Given the description of an element on the screen output the (x, y) to click on. 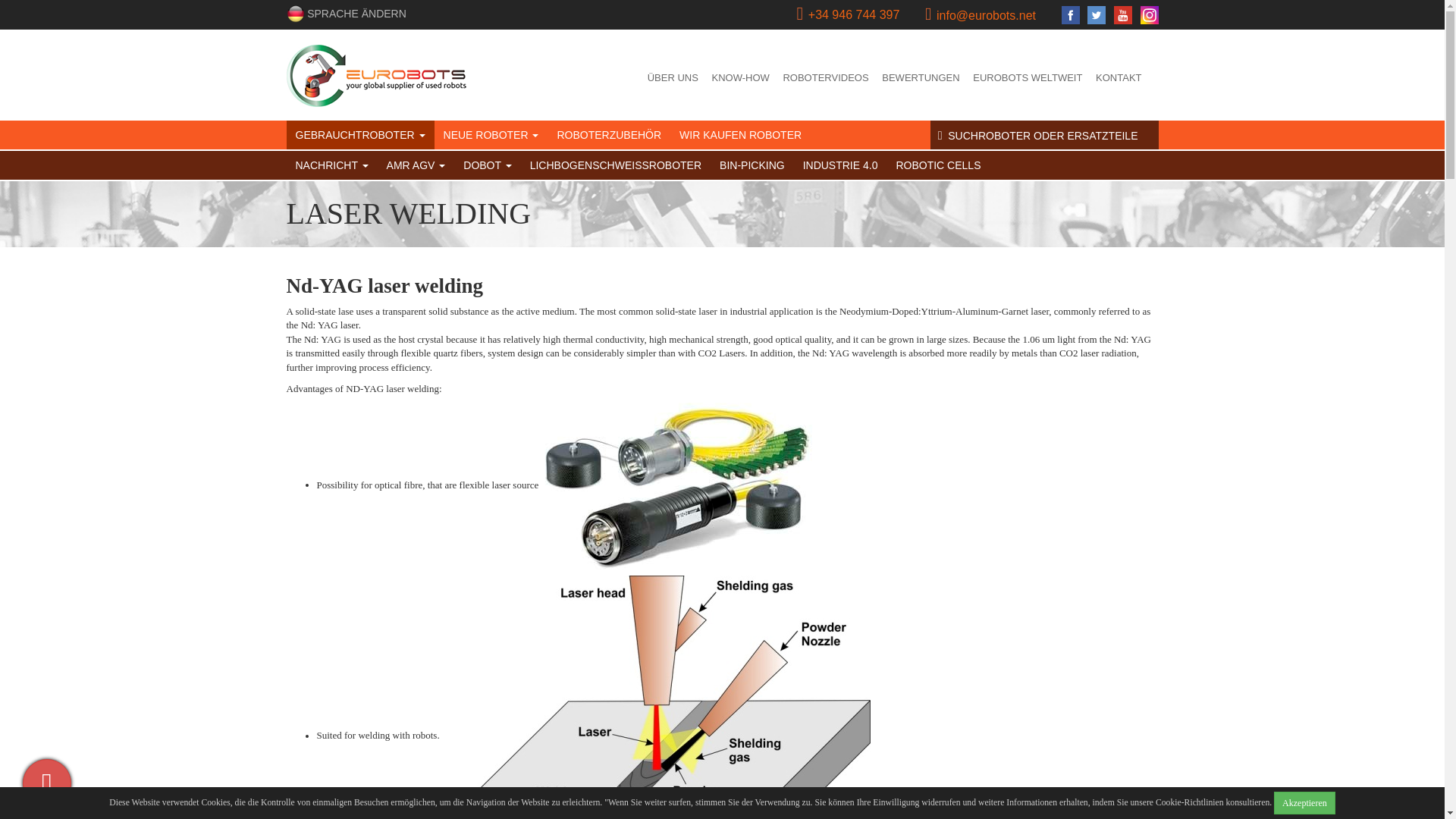
KNOW-HOW (740, 78)
BEWERTUNGEN (919, 78)
GEBRAUCHTROBOTER (359, 134)
ROBOTERVIDEOS (825, 78)
EUROBOTS WELTWEIT (1027, 78)
KONTAKT (1118, 78)
Brauche Hilfe? Klick hier (47, 783)
